Given the description of an element on the screen output the (x, y) to click on. 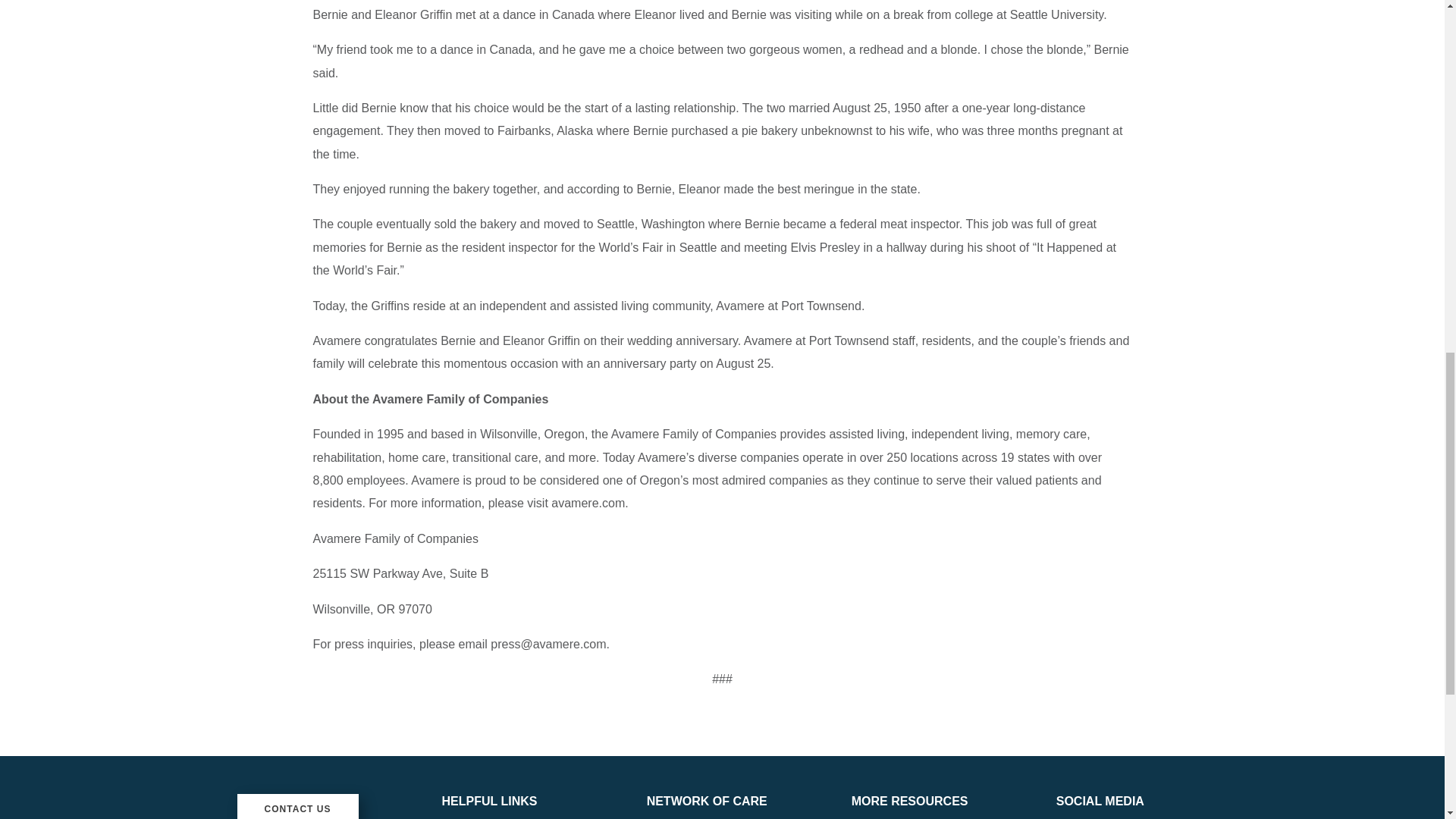
CONTACT US (296, 806)
avamere.com (587, 502)
independent and assisted living community (594, 305)
